Given the description of an element on the screen output the (x, y) to click on. 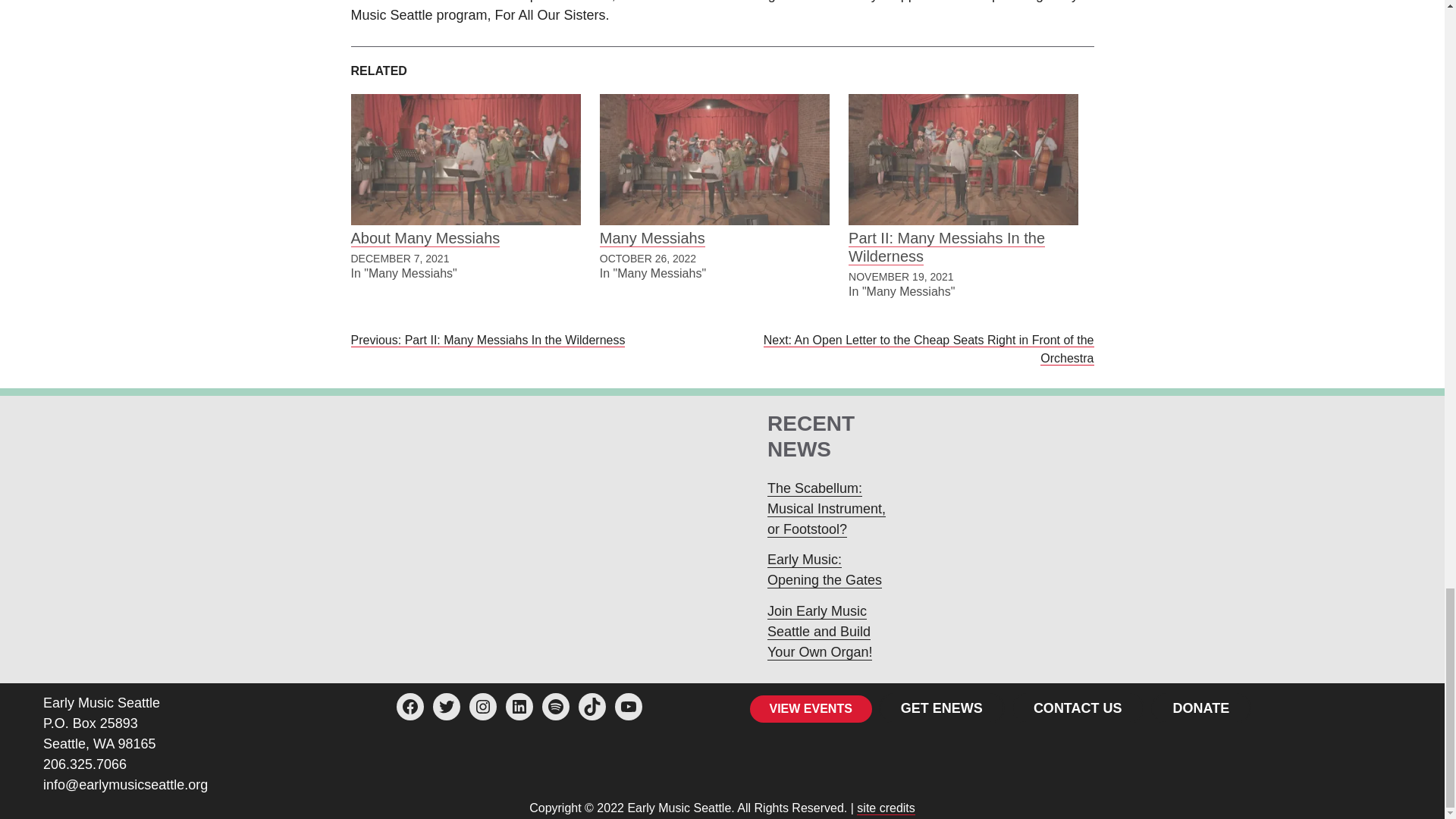
Part II: Many Messiahs In the Wilderness (946, 247)
About Many Messiahs (424, 238)
Part II: Many Messiahs In the Wilderness (963, 159)
About Many Messiahs (464, 159)
Many Messiahs (714, 159)
Many Messiahs (651, 238)
